Given the description of an element on the screen output the (x, y) to click on. 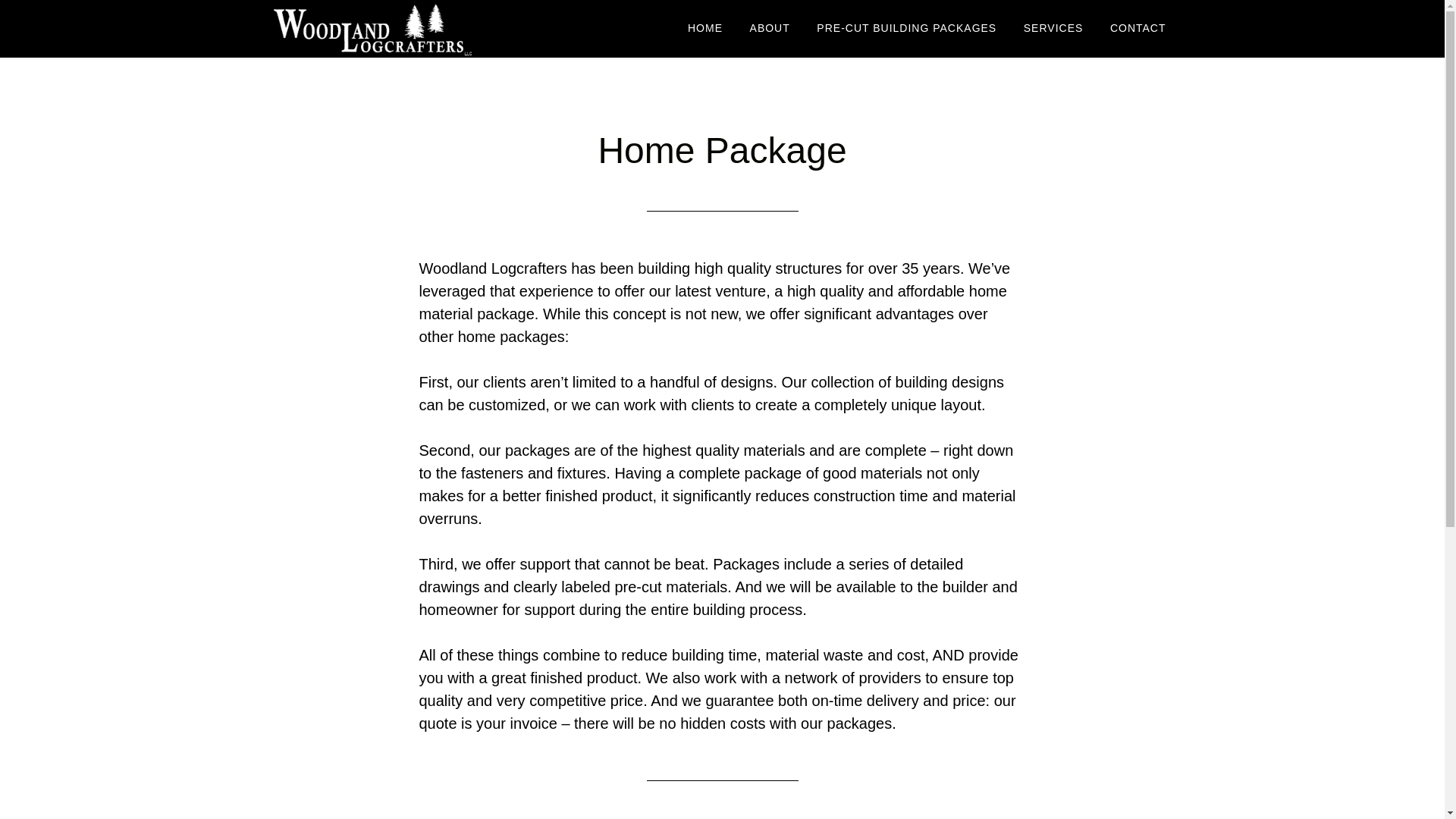
PRE-CUT BUILDING PACKAGES (906, 28)
HOME (705, 28)
CONTACT (1138, 28)
SERVICES (1052, 28)
ABOUT (770, 28)
WOODLAND LOGCRAFTERS (403, 28)
